Given the description of an element on the screen output the (x, y) to click on. 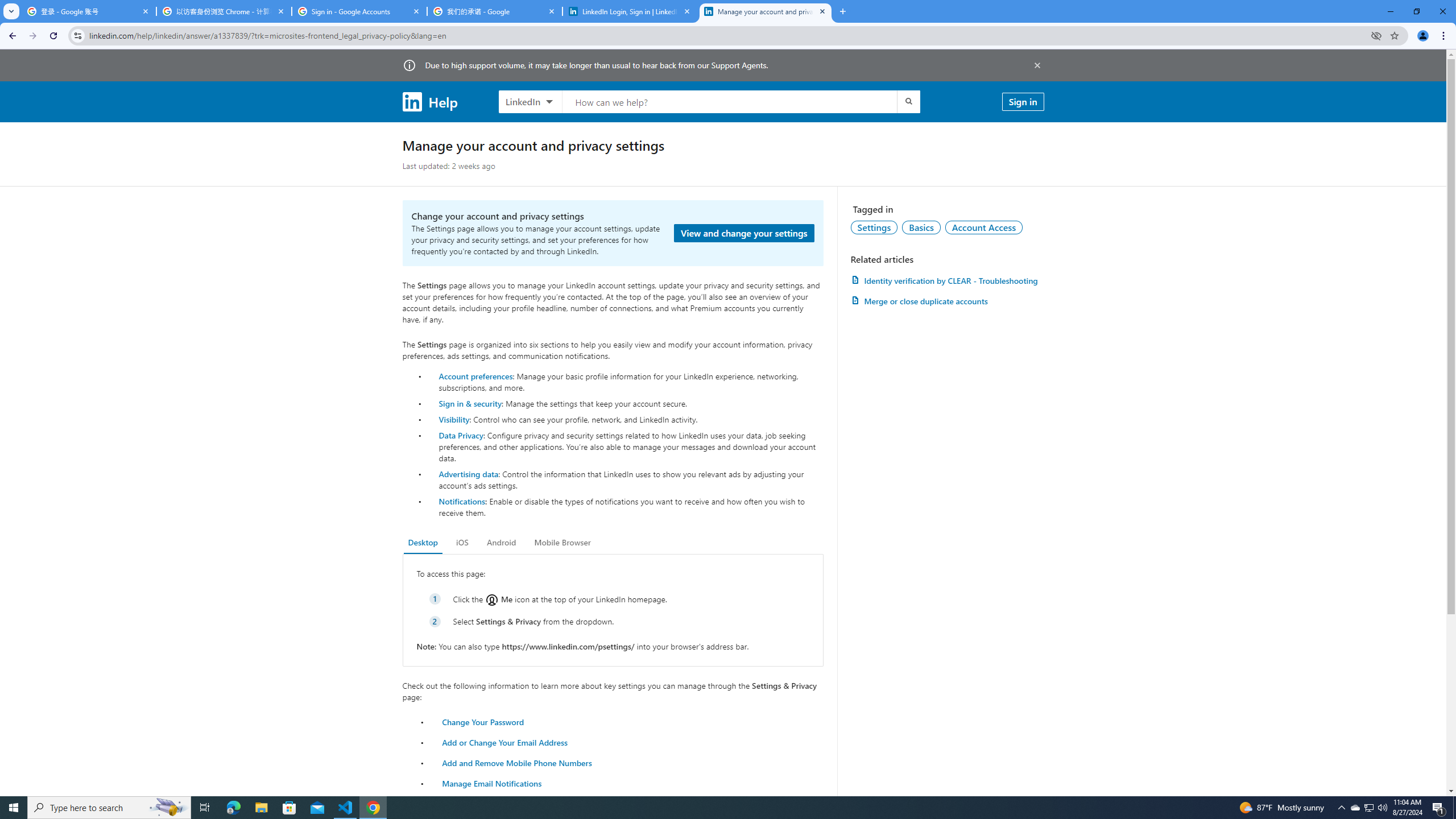
Account preferences (475, 375)
AutomationID: topic-link-a51 (921, 227)
Settings (874, 227)
Advertising data (468, 473)
Identity verification by CLEAR - Troubleshooting (946, 280)
Account Access (983, 227)
Data Privacy (460, 434)
Manage Email Notifications (491, 782)
Change Your Password (483, 721)
AutomationID: topic-link-a149001 (874, 227)
